Given the description of an element on the screen output the (x, y) to click on. 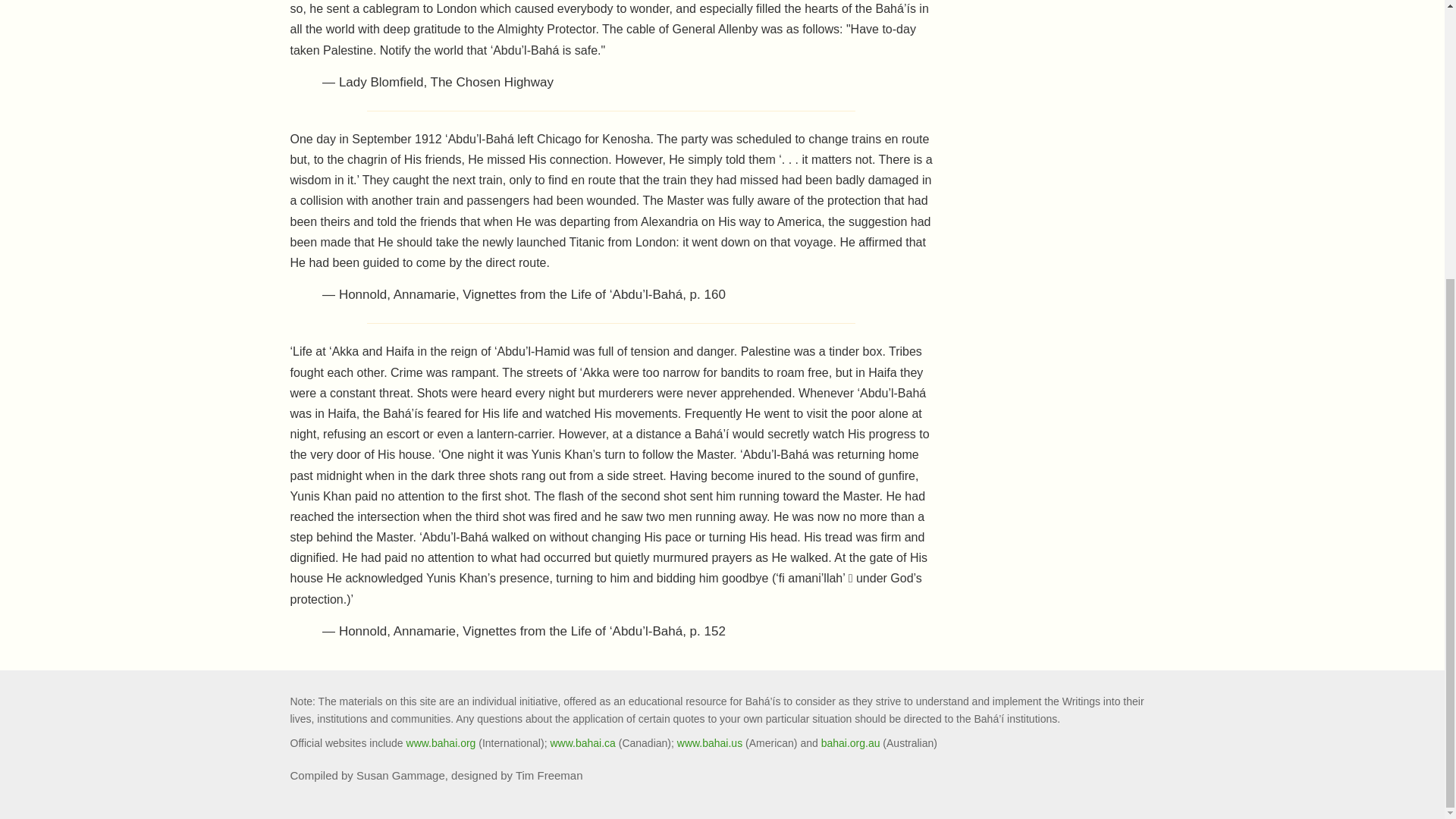
bahai.org.au (850, 743)
www.bahai.ca (582, 743)
www.bahai.org (441, 743)
www.bahai.us (709, 743)
